Given the description of an element on the screen output the (x, y) to click on. 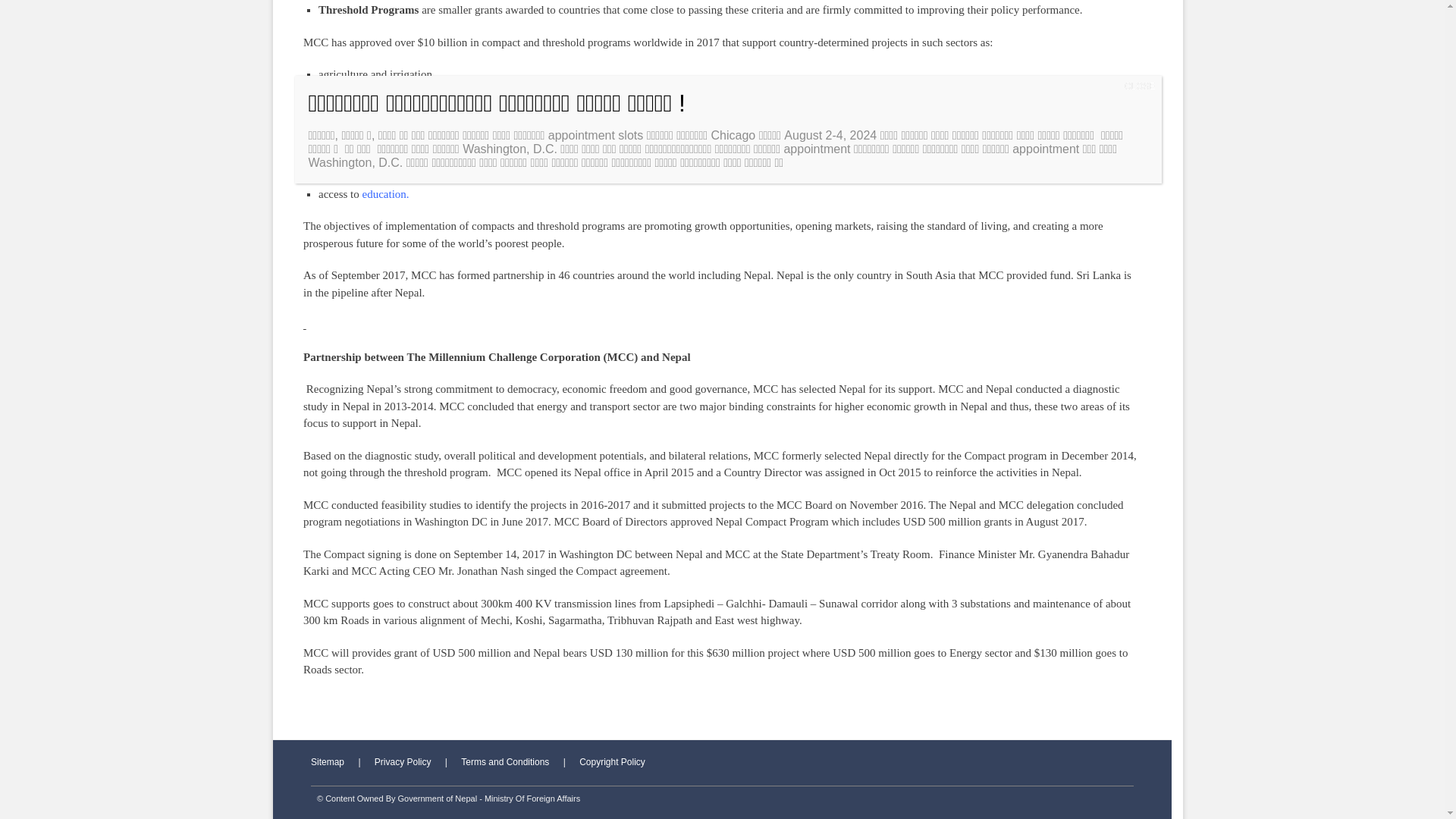
land rights (342, 176)
anticorruption (350, 159)
health (375, 125)
water supply and sanitation (381, 108)
